Given the description of an element on the screen output the (x, y) to click on. 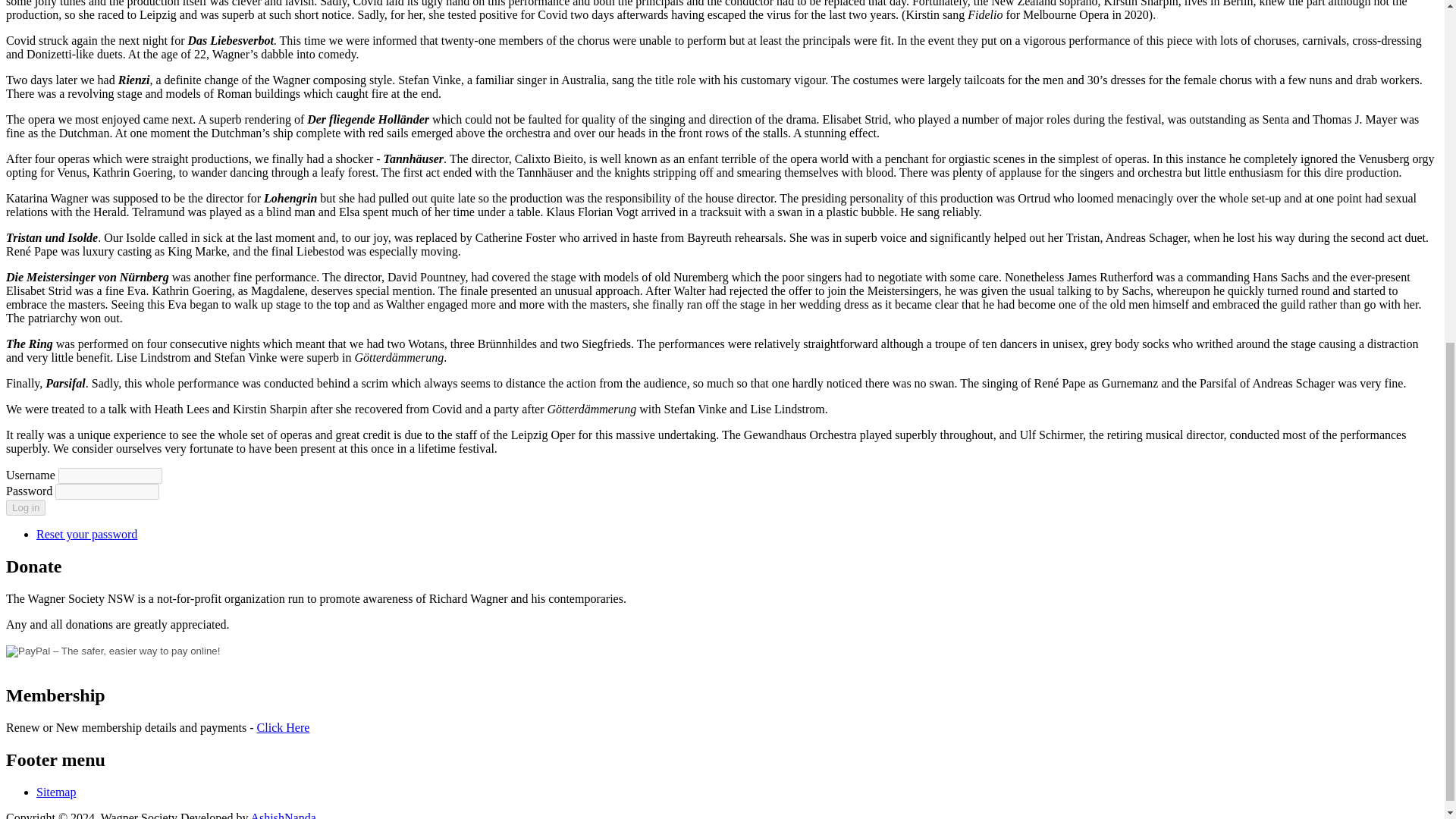
Sitemap (55, 791)
Click Here (283, 727)
Reset your password (86, 533)
Send password reset instructions via email. (86, 533)
Log in (25, 507)
Log in (25, 507)
